Given the description of an element on the screen output the (x, y) to click on. 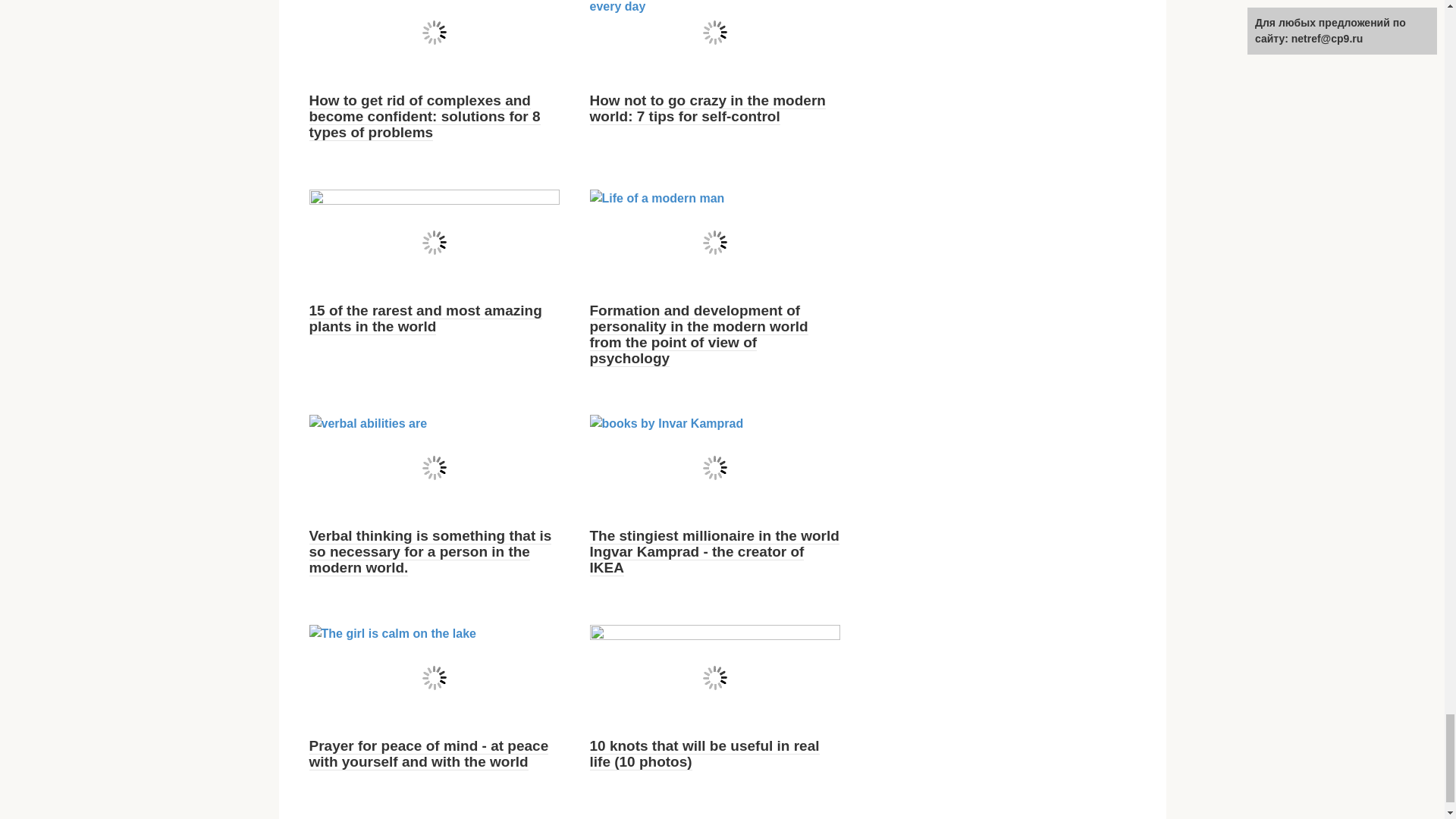
15 of the rarest and most amazing plants in the world (424, 318)
